Given the description of an element on the screen output the (x, y) to click on. 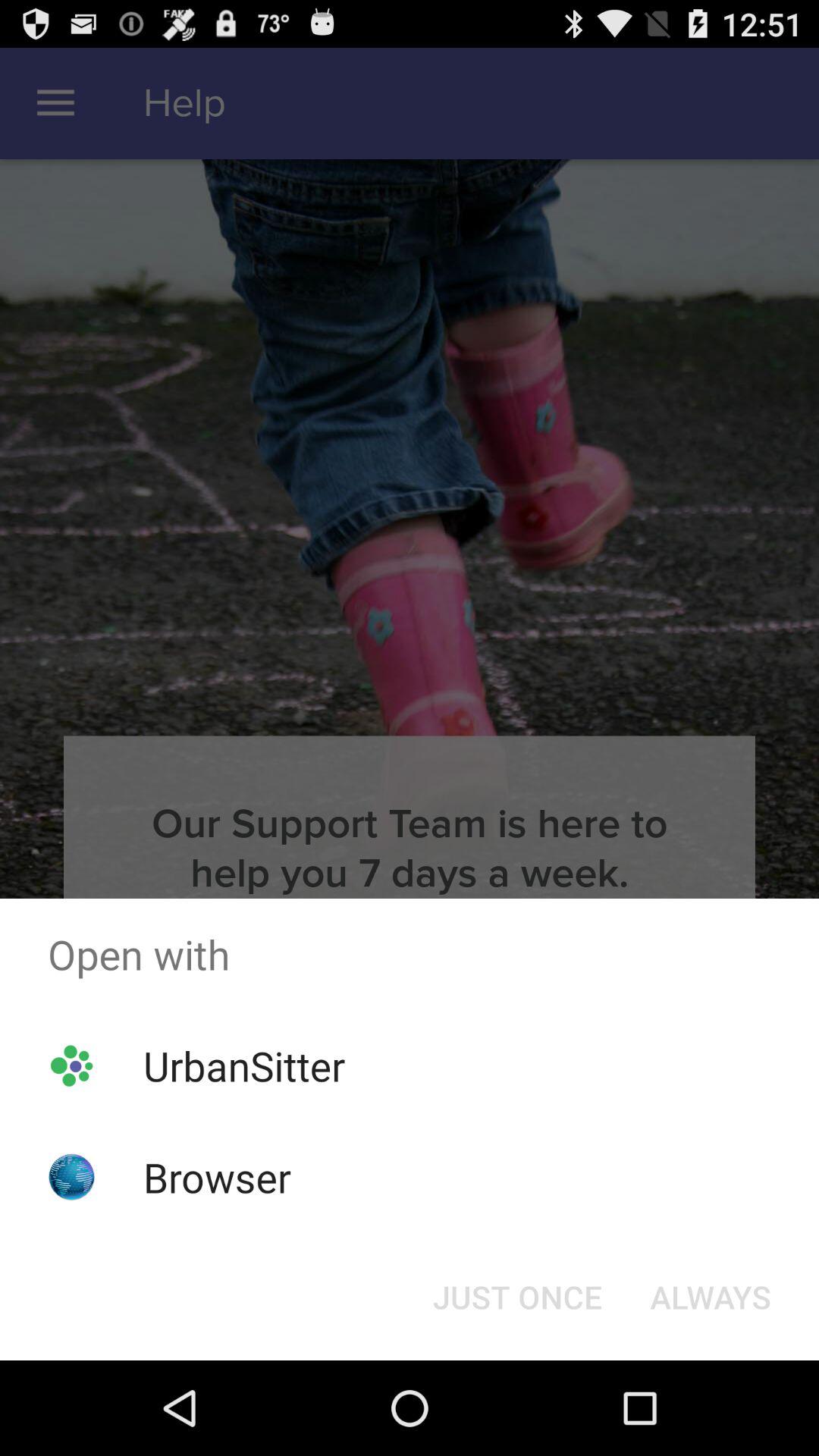
choose the urbansitter (244, 1065)
